Given the description of an element on the screen output the (x, y) to click on. 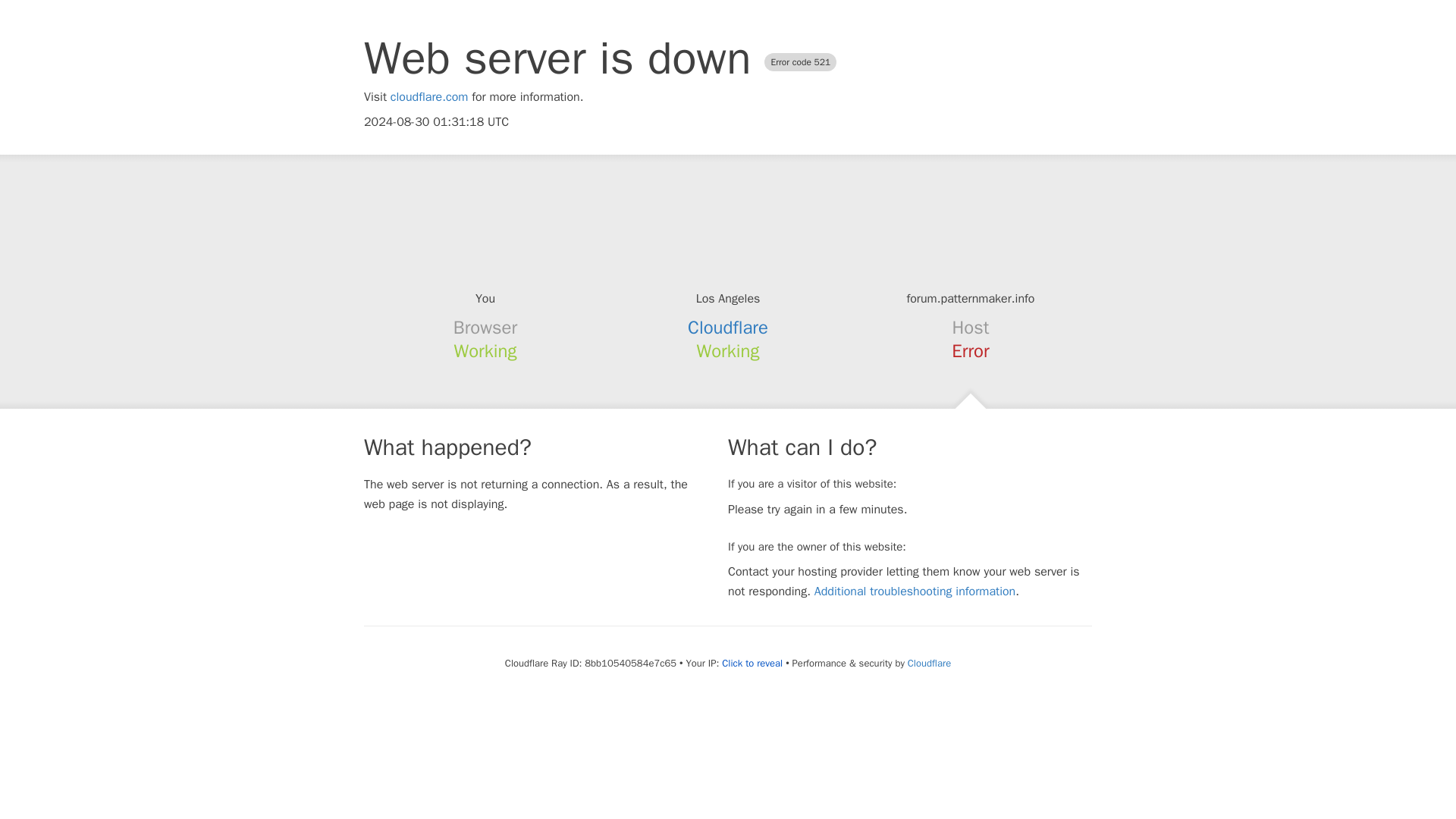
cloudflare.com (429, 96)
Cloudflare (928, 662)
Additional troubleshooting information (913, 590)
Cloudflare (727, 327)
Click to reveal (752, 663)
